Given the description of an element on the screen output the (x, y) to click on. 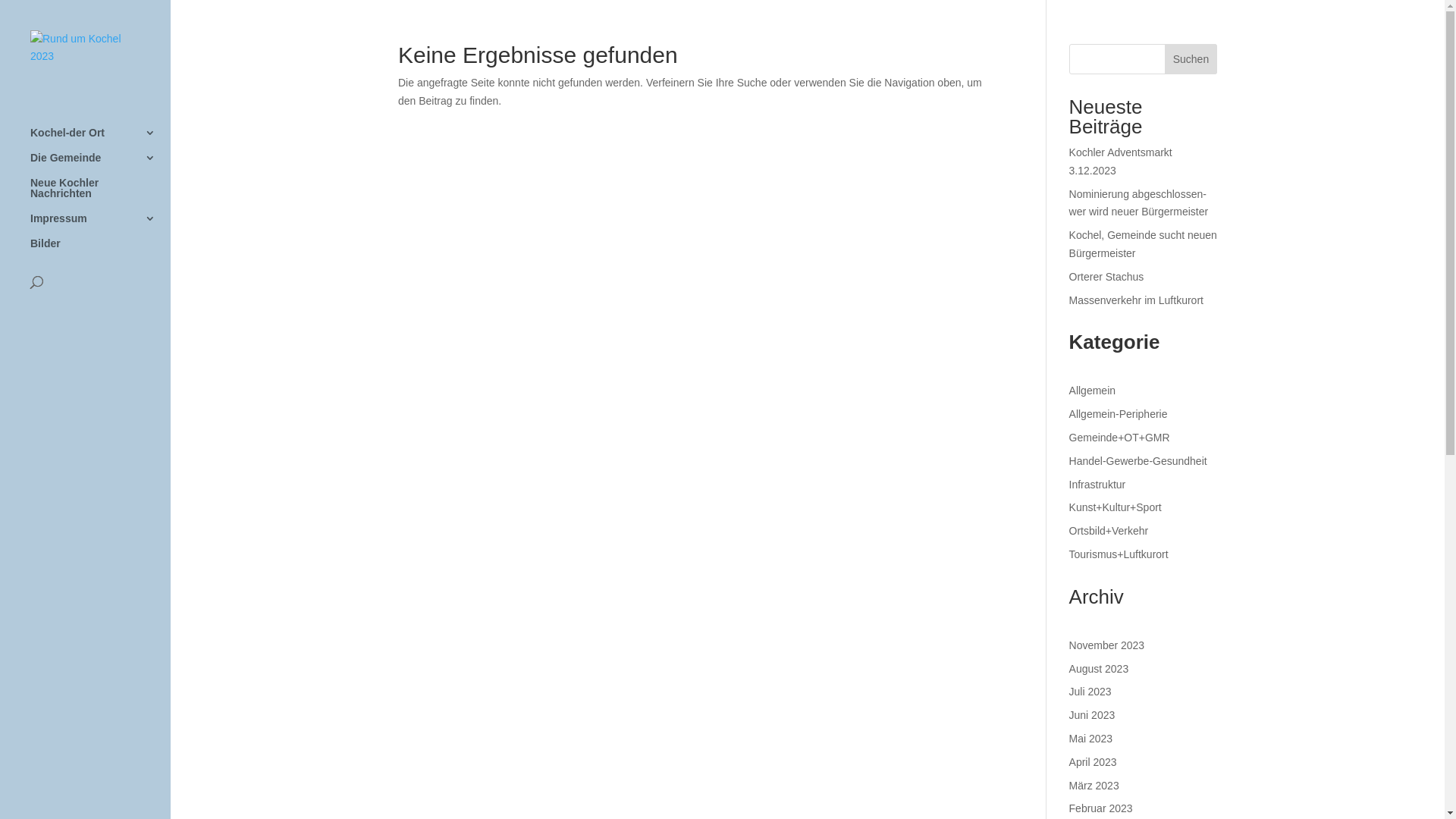
Gemeinde+OT+GMR Element type: text (1119, 437)
November 2023 Element type: text (1107, 645)
August 2023 Element type: text (1099, 668)
Handel-Gewerbe-Gesundheit Element type: text (1138, 461)
Ortsbild+Verkehr Element type: text (1108, 530)
Allgemein Element type: text (1092, 390)
Tourismus+Luftkurort Element type: text (1118, 554)
Juli 2023 Element type: text (1090, 691)
Infrastruktur Element type: text (1097, 484)
Orterer Stachus Element type: text (1106, 276)
Kochler Adventsmarkt 3.12.2023 Element type: text (1120, 161)
Allgemein-Peripherie Element type: text (1118, 413)
Die Gemeinde Element type: text (100, 164)
Februar 2023 Element type: text (1100, 808)
Neue Kochler Nachrichten Element type: text (100, 195)
Impressum Element type: text (100, 225)
Mai 2023 Element type: text (1091, 738)
Kochel-der Ort Element type: text (100, 139)
Massenverkehr im Luftkurort Element type: text (1136, 300)
Kunst+Kultur+Sport Element type: text (1115, 507)
Juni 2023 Element type: text (1092, 715)
Bilder Element type: text (100, 250)
April 2023 Element type: text (1093, 762)
Suchen Element type: text (1190, 58)
